Given the description of an element on the screen output the (x, y) to click on. 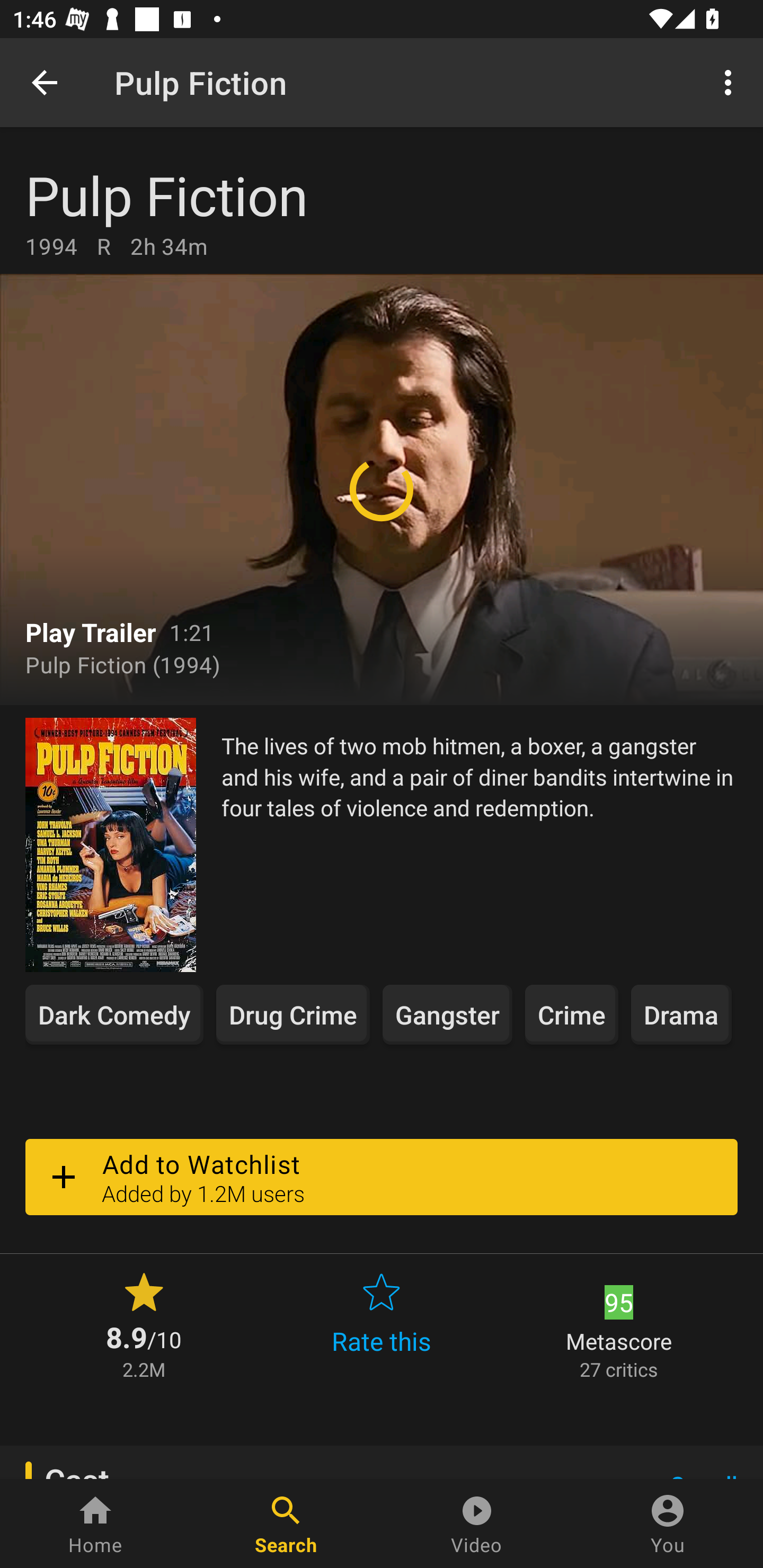
More options (731, 81)
Dark Comedy (114, 1014)
Drug Crime (292, 1014)
Gangster (447, 1014)
Crime (571, 1014)
Drama (681, 1014)
Add to Watchlist Added by 1.2M users (381, 1176)
8.9 /10 2.2M (143, 1323)
Rate this (381, 1323)
95 Metascore 27 critics (618, 1323)
Home (95, 1523)
Video (476, 1523)
You (667, 1523)
